Given the description of an element on the screen output the (x, y) to click on. 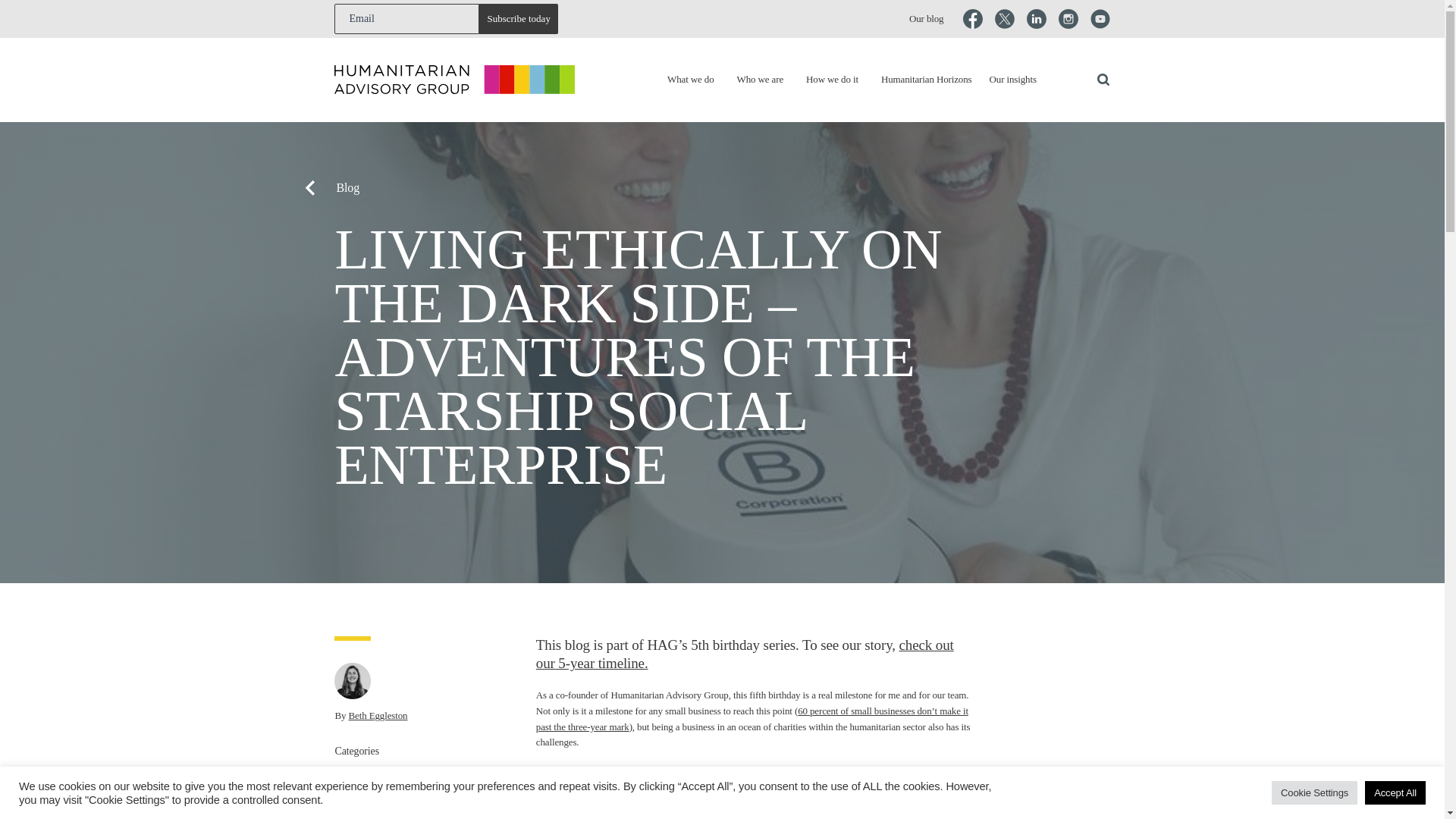
Our blog (925, 19)
Blog (706, 188)
Who we are (760, 79)
What we do (690, 79)
Our insights (1013, 79)
Subscribe today (518, 19)
Subscribe today (518, 19)
How we do it (832, 79)
Humanitarian Horizons (926, 79)
